Given the description of an element on the screen output the (x, y) to click on. 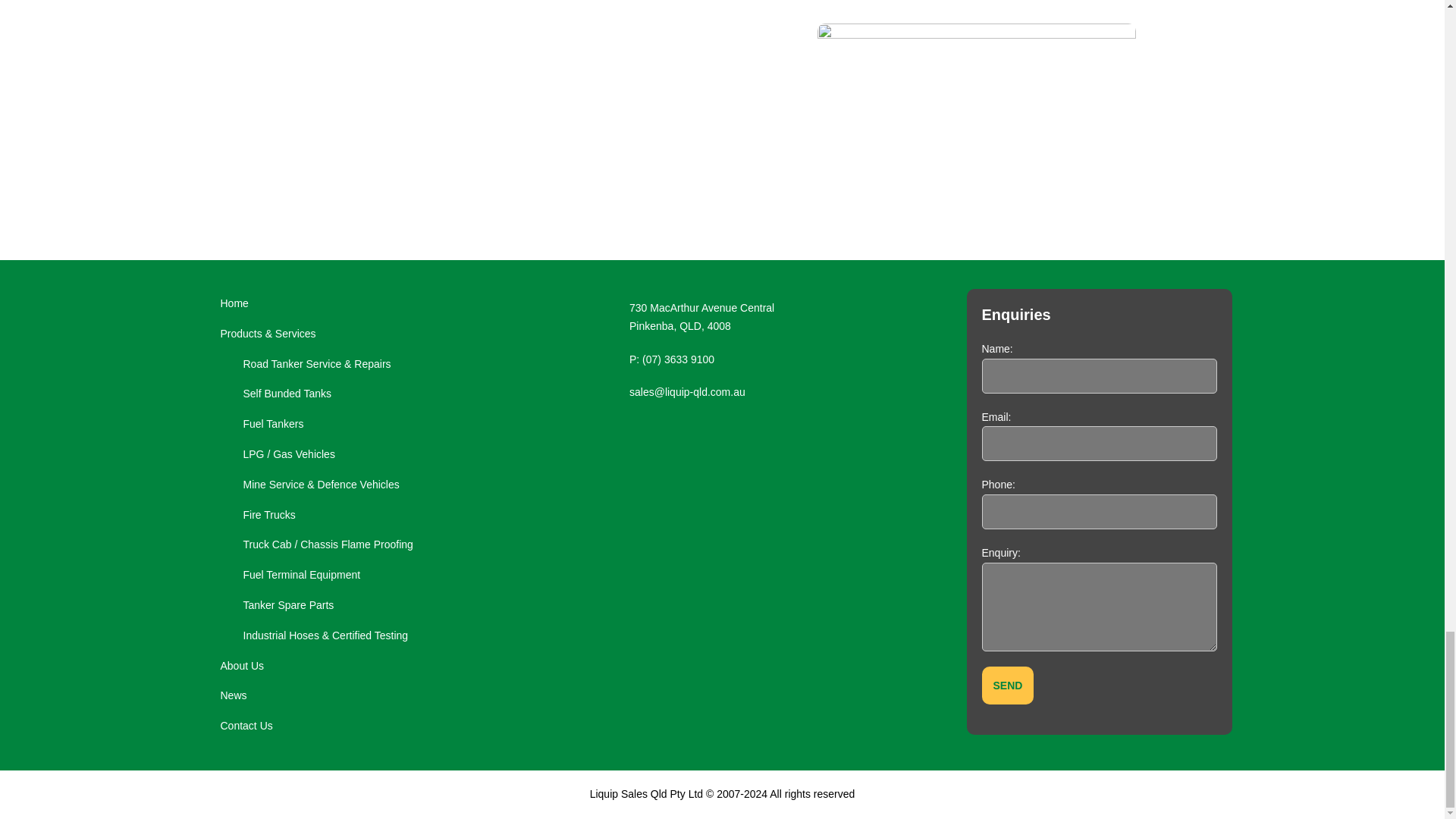
Send (1007, 685)
Home (344, 304)
